Given the description of an element on the screen output the (x, y) to click on. 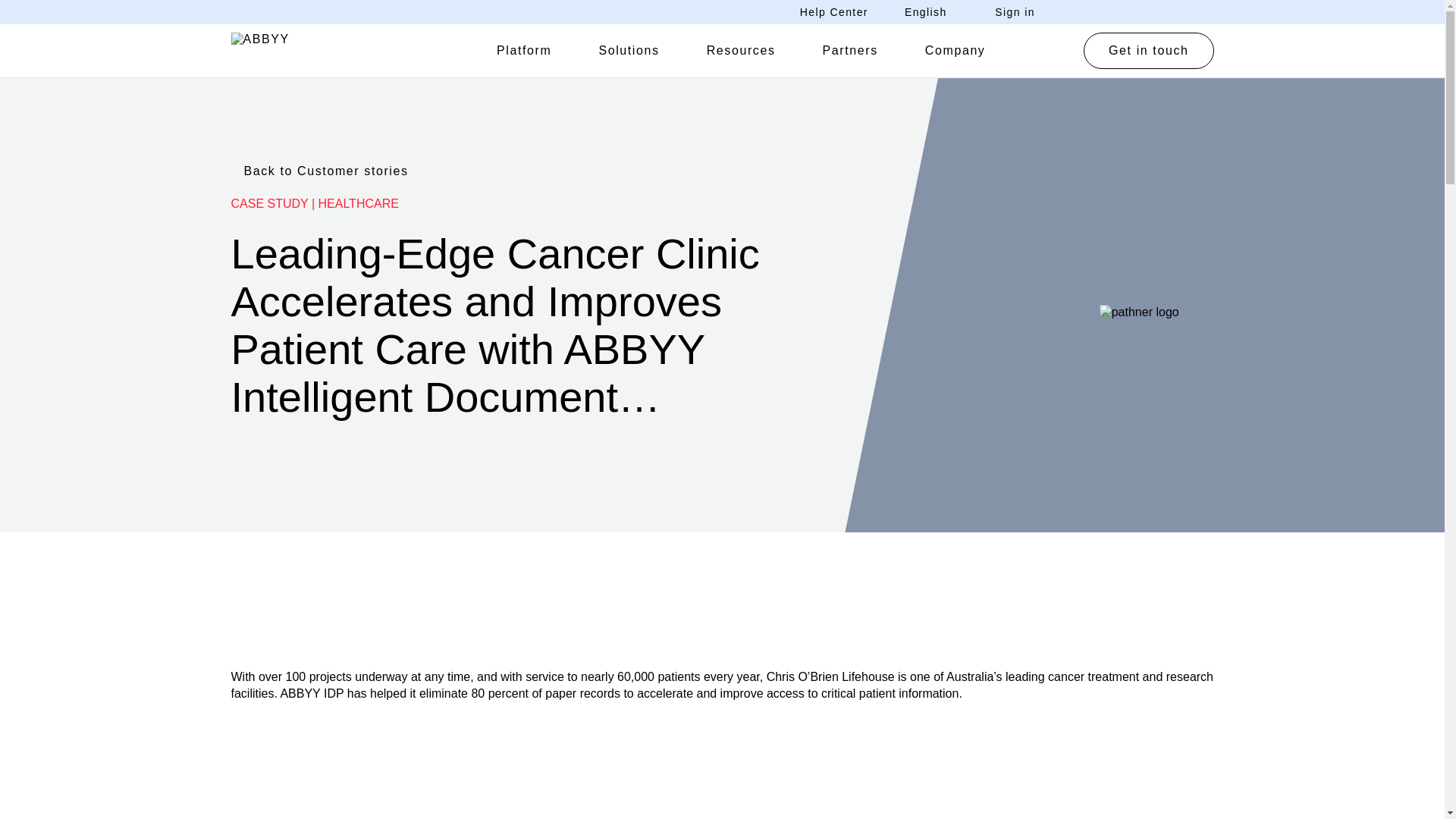
Platform (524, 50)
Resources (740, 50)
Get in touch (1147, 50)
Company (955, 50)
Solutions (628, 50)
Partners (850, 50)
Help Center (833, 12)
